Given the description of an element on the screen output the (x, y) to click on. 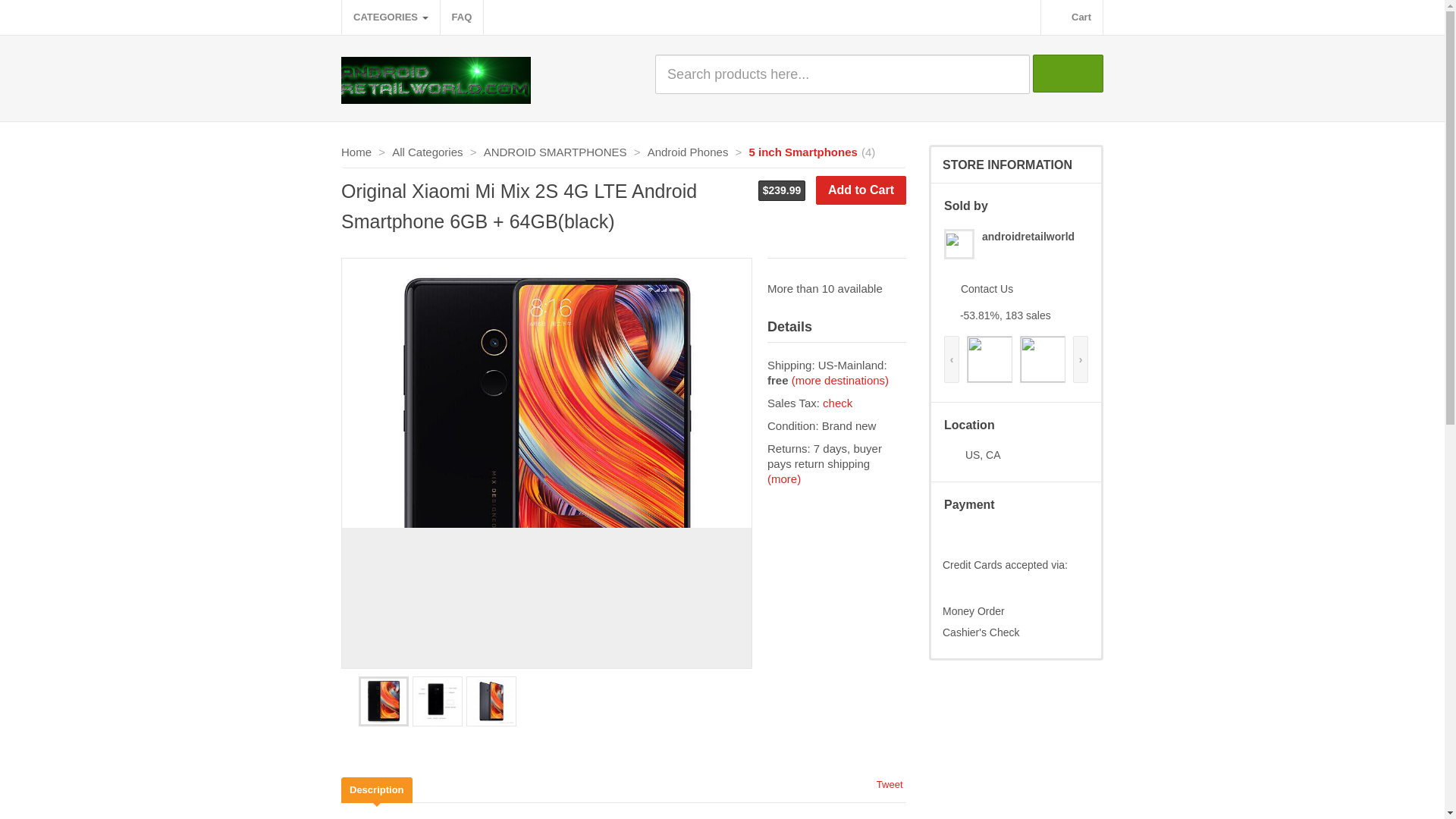
Home (355, 151)
Add to Cart (860, 190)
CATEGORIES (390, 17)
5 inch Smartphones (803, 151)
Cart (1071, 17)
FAQ (462, 17)
ANDROID SMARTPHONES (555, 151)
All Categories (427, 151)
Android Phones (688, 151)
